Given the description of an element on the screen output the (x, y) to click on. 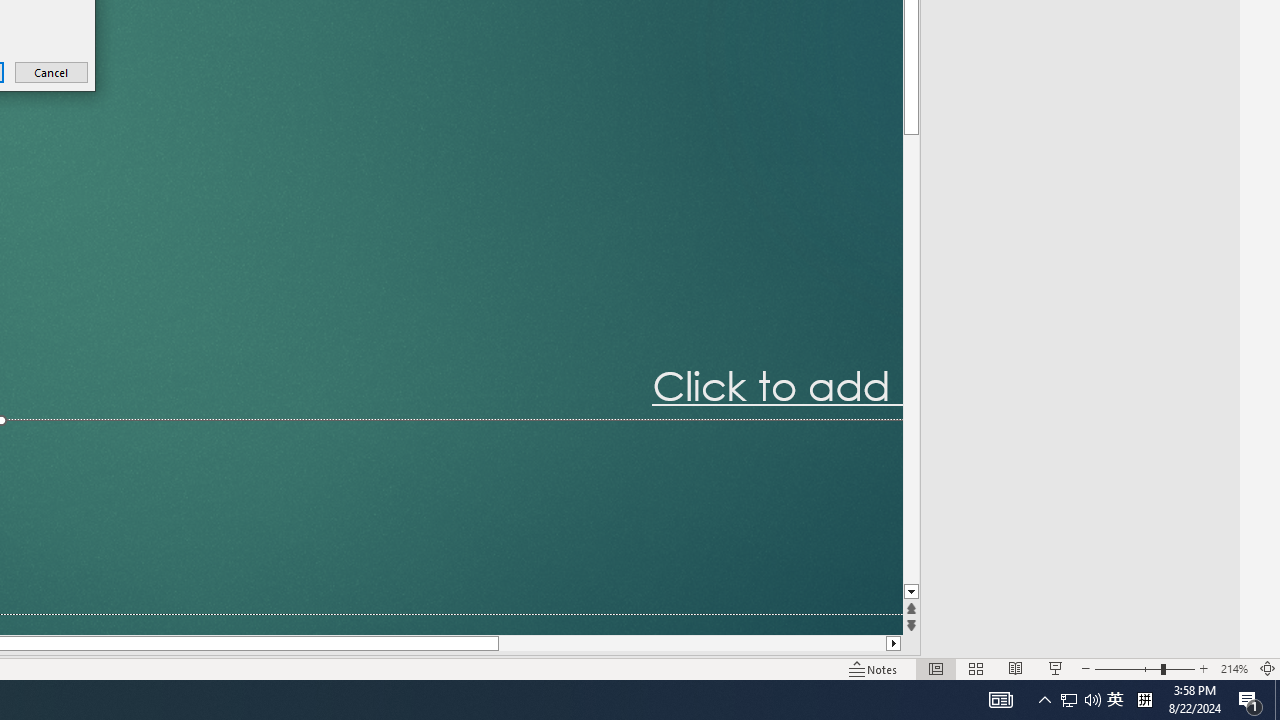
Zoom 214% (1234, 668)
Cancel (51, 72)
